Given the description of an element on the screen output the (x, y) to click on. 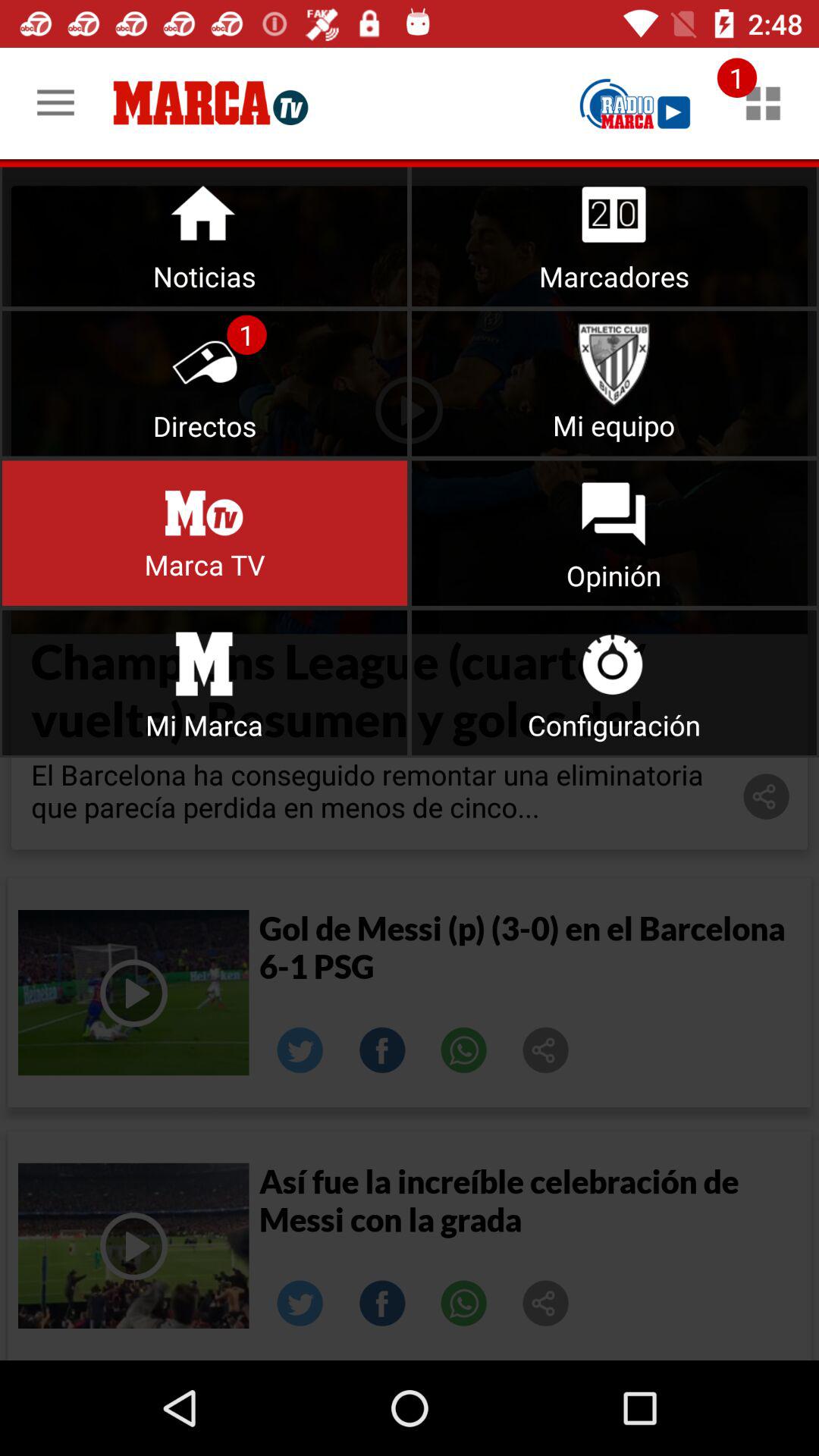
click directos (204, 383)
